Given the description of an element on the screen output the (x, y) to click on. 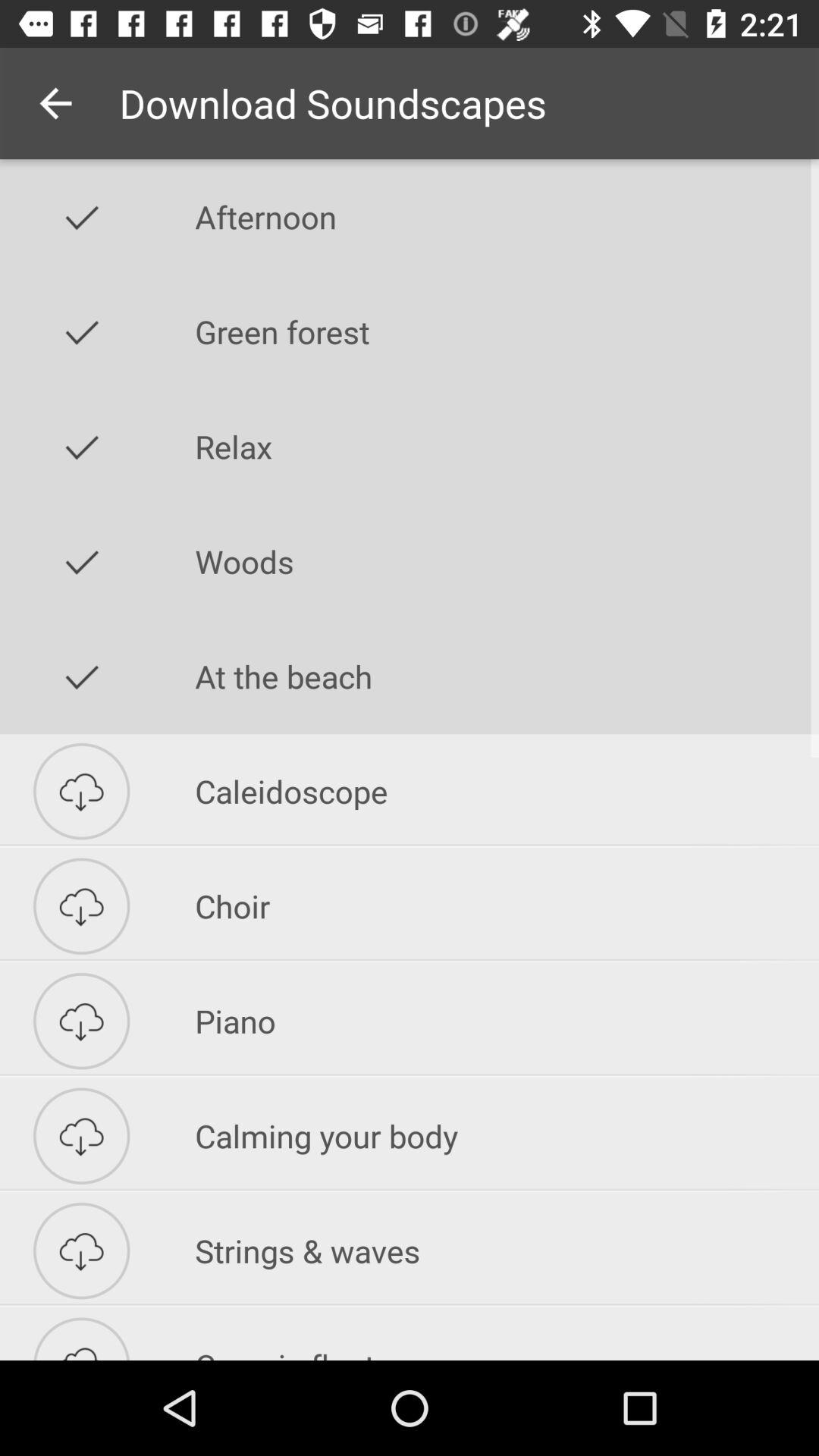
flip until at the beach item (507, 676)
